Given the description of an element on the screen output the (x, y) to click on. 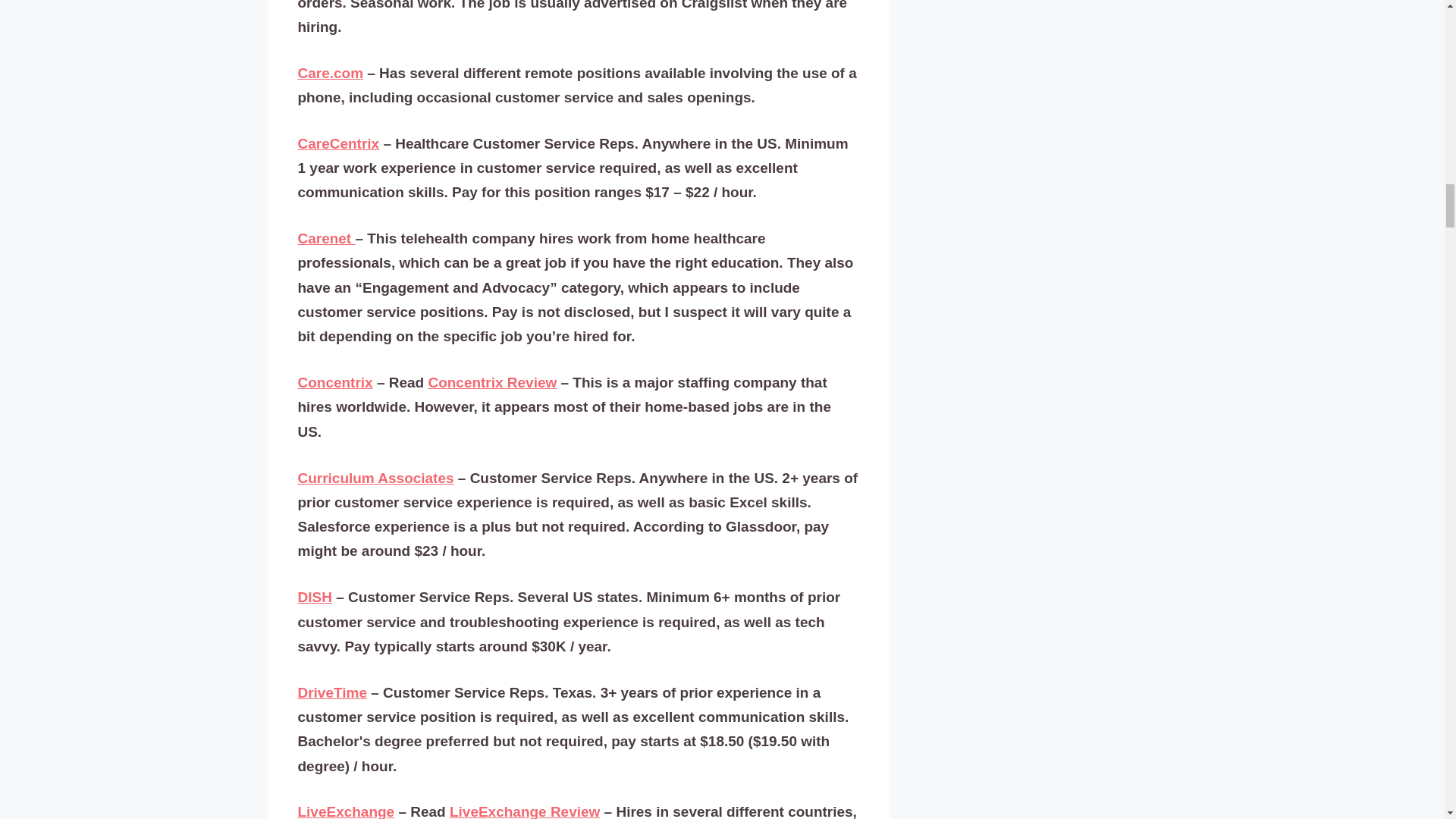
Getting Work at Home Jobs Through Concentrix (492, 382)
Home-Based Call Center Jobs Through Contract World (524, 811)
Care.com (329, 73)
DriveTime (331, 692)
DISH (314, 597)
Carenet (326, 238)
CareCentrix (337, 143)
Curriculum Associates (374, 478)
Concentrix (334, 382)
Concentrix Review (492, 382)
